Given the description of an element on the screen output the (x, y) to click on. 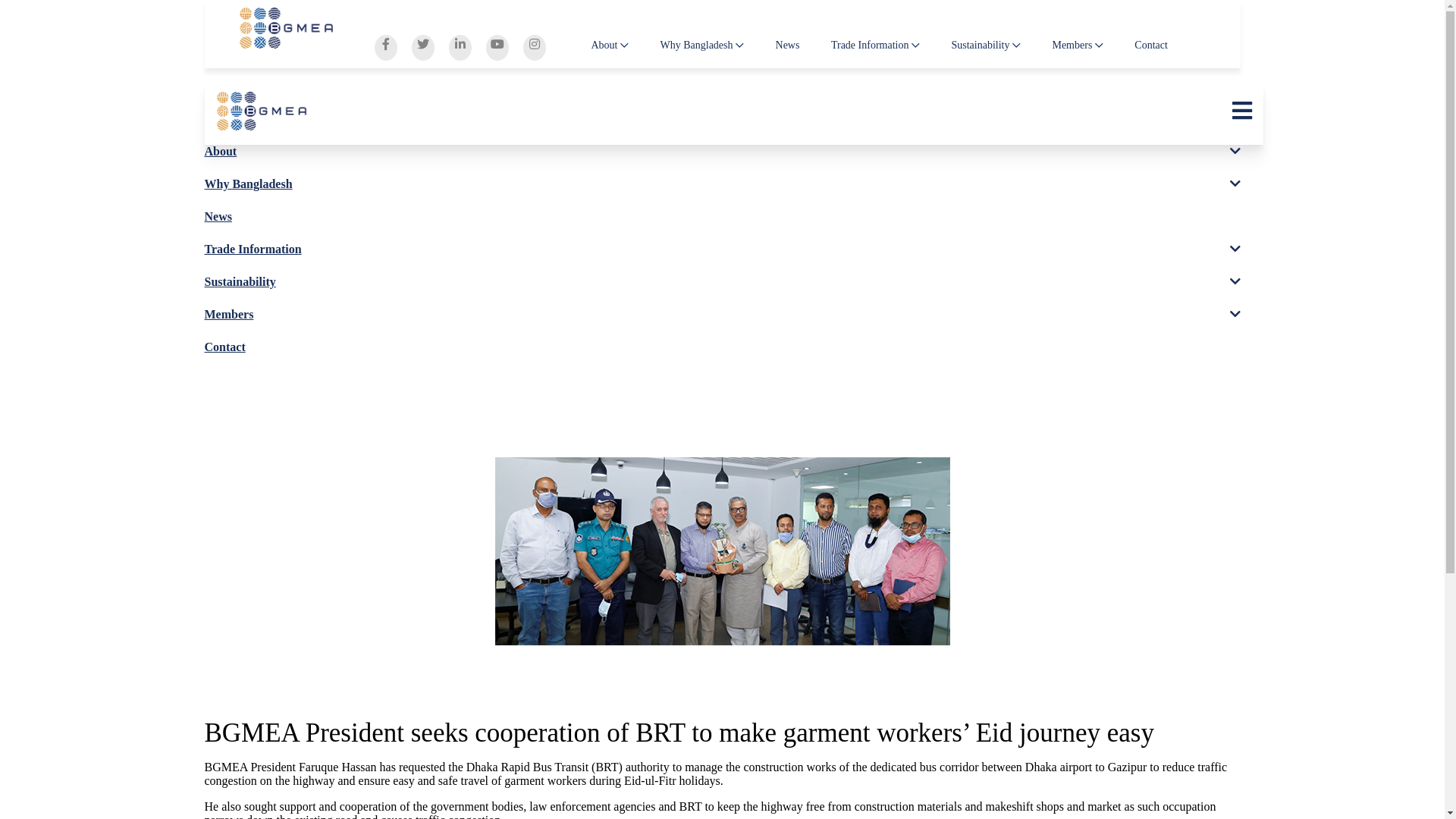
Sustainability Element type: text (240, 281)
Contact Element type: text (1150, 45)
Sustainability Element type: text (985, 45)
Why Bangladesh Element type: text (248, 183)
Members Element type: text (1076, 45)
News Element type: text (787, 45)
Why Bangladesh Element type: text (701, 45)
Contact Element type: text (224, 346)
Trade Information Element type: text (252, 248)
About Element type: text (220, 150)
Trade Information Element type: text (875, 45)
News Element type: text (218, 216)
About Element type: text (610, 45)
Members Element type: text (229, 313)
